Given the description of an element on the screen output the (x, y) to click on. 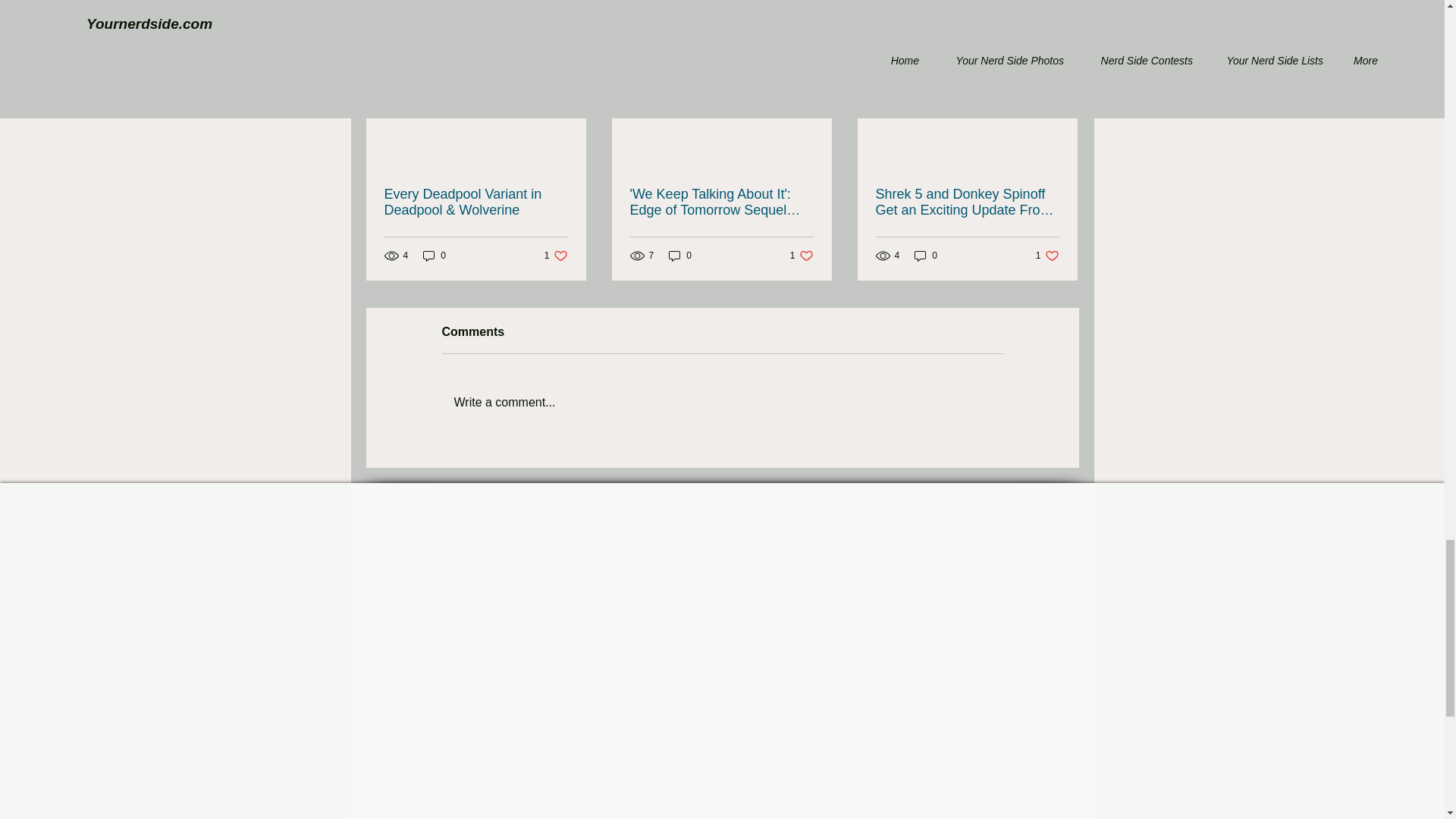
See All (1061, 18)
0 (434, 255)
